Given the description of an element on the screen output the (x, y) to click on. 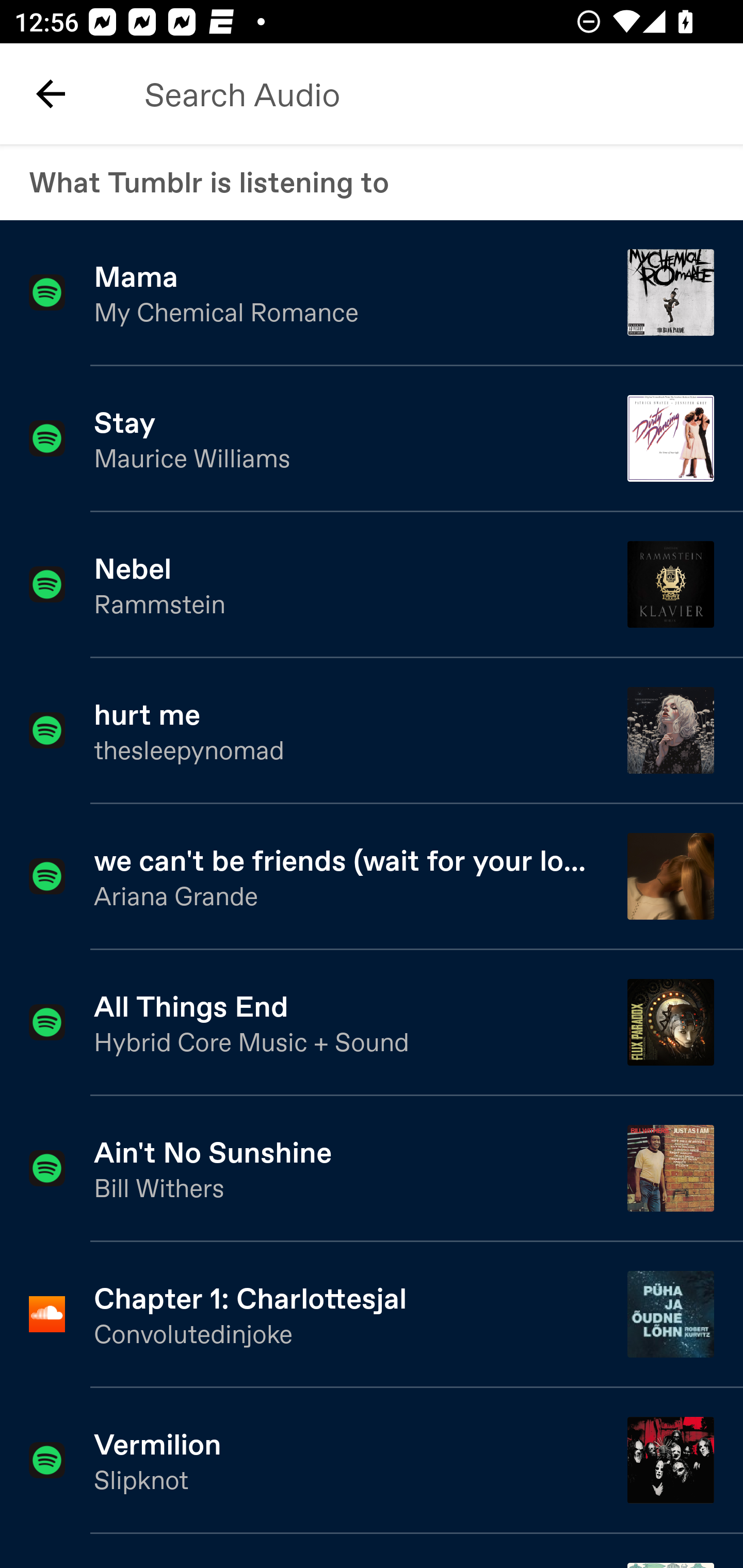
Navigate up (50, 93)
Search Audio (422, 93)
What Tumblr is listening to (371, 181)
Mama My Chemical Romance (371, 292)
Stay Maurice Williams (371, 439)
Nebel Rammstein (371, 585)
hurt me thesleepynomad (371, 731)
All Things End Hybrid Core Music + Sound (371, 1023)
Ain't No Sunshine Bill Withers (371, 1168)
Chapter 1: Charlottesjal Convolutedinjoke (371, 1314)
Vermilion Slipknot (371, 1460)
